Given the description of an element on the screen output the (x, y) to click on. 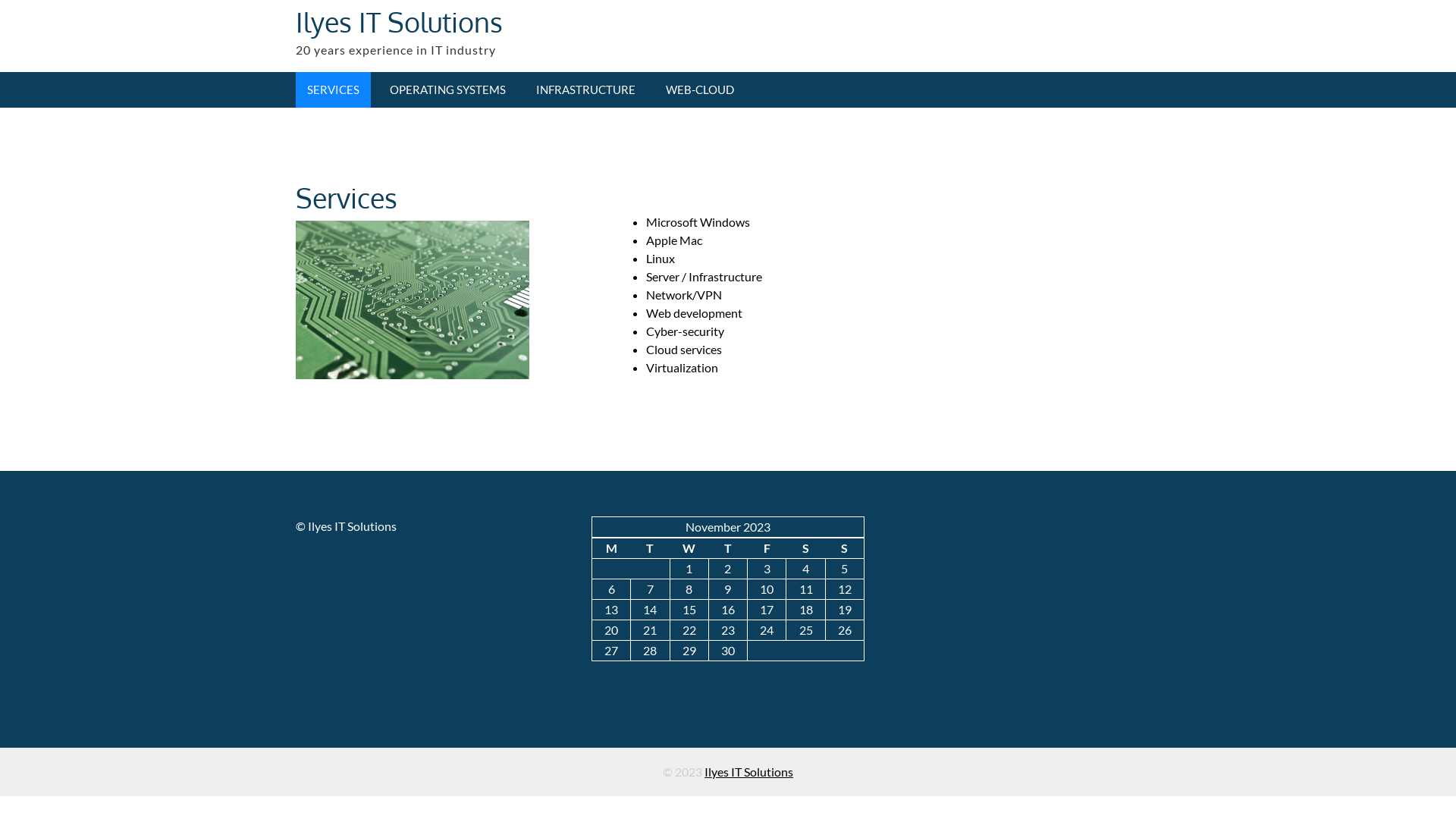
SERVICES Element type: text (332, 89)
WEB-CLOUD Element type: text (699, 89)
INFRASTRUCTURE Element type: text (585, 89)
Ilyes IT Solutions Element type: text (398, 21)
Ilyes IT Solutions Element type: text (748, 771)
OPERATING SYSTEMS Element type: text (447, 89)
